Given the description of an element on the screen output the (x, y) to click on. 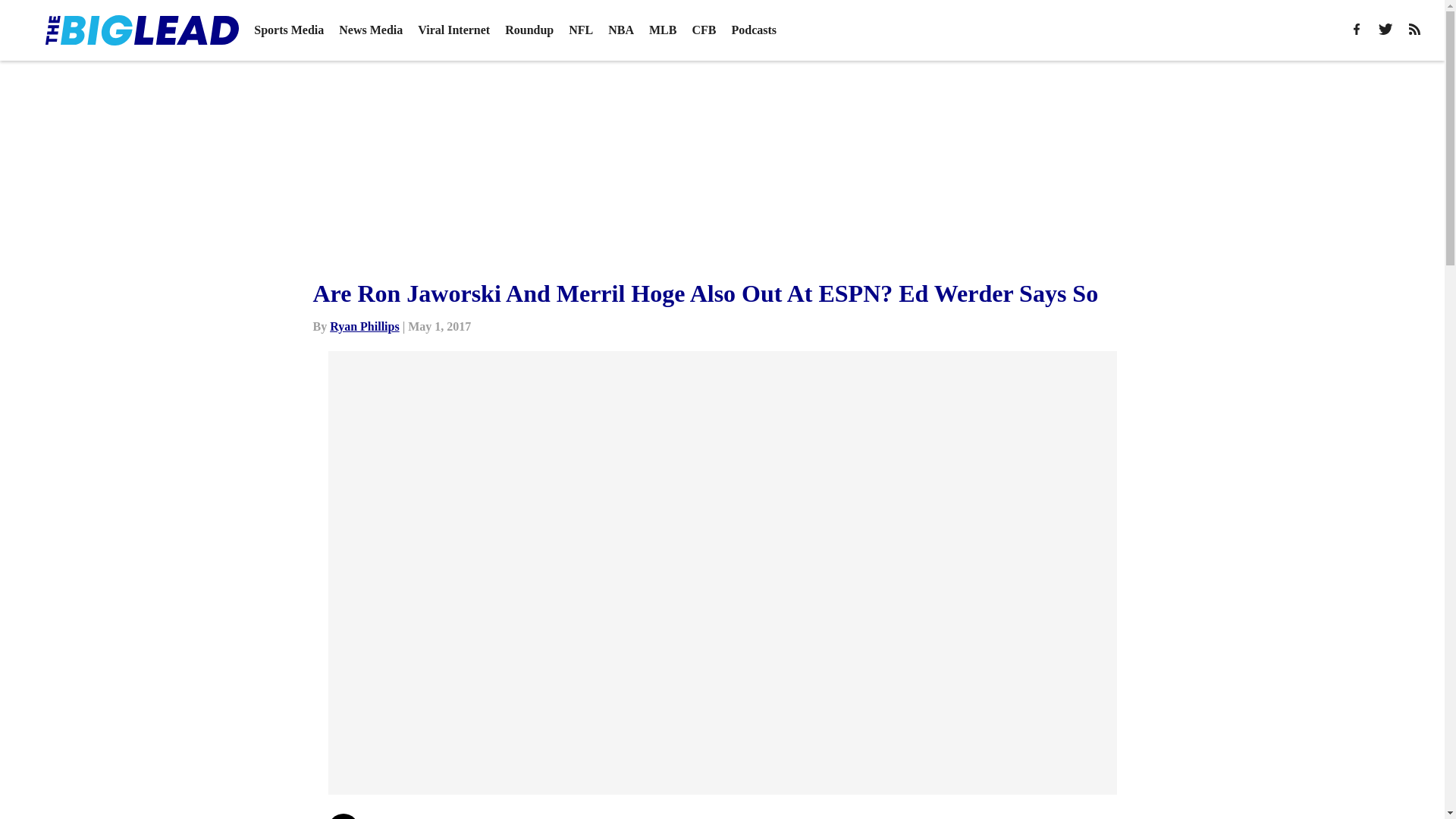
NFL (580, 30)
Ryan Phillips (364, 326)
Roundup (529, 30)
Viral Internet (453, 30)
MLB (663, 30)
Podcasts (753, 30)
CFB (703, 30)
News Media (371, 30)
Sports Media (288, 30)
NBA (620, 30)
